Given the description of an element on the screen output the (x, y) to click on. 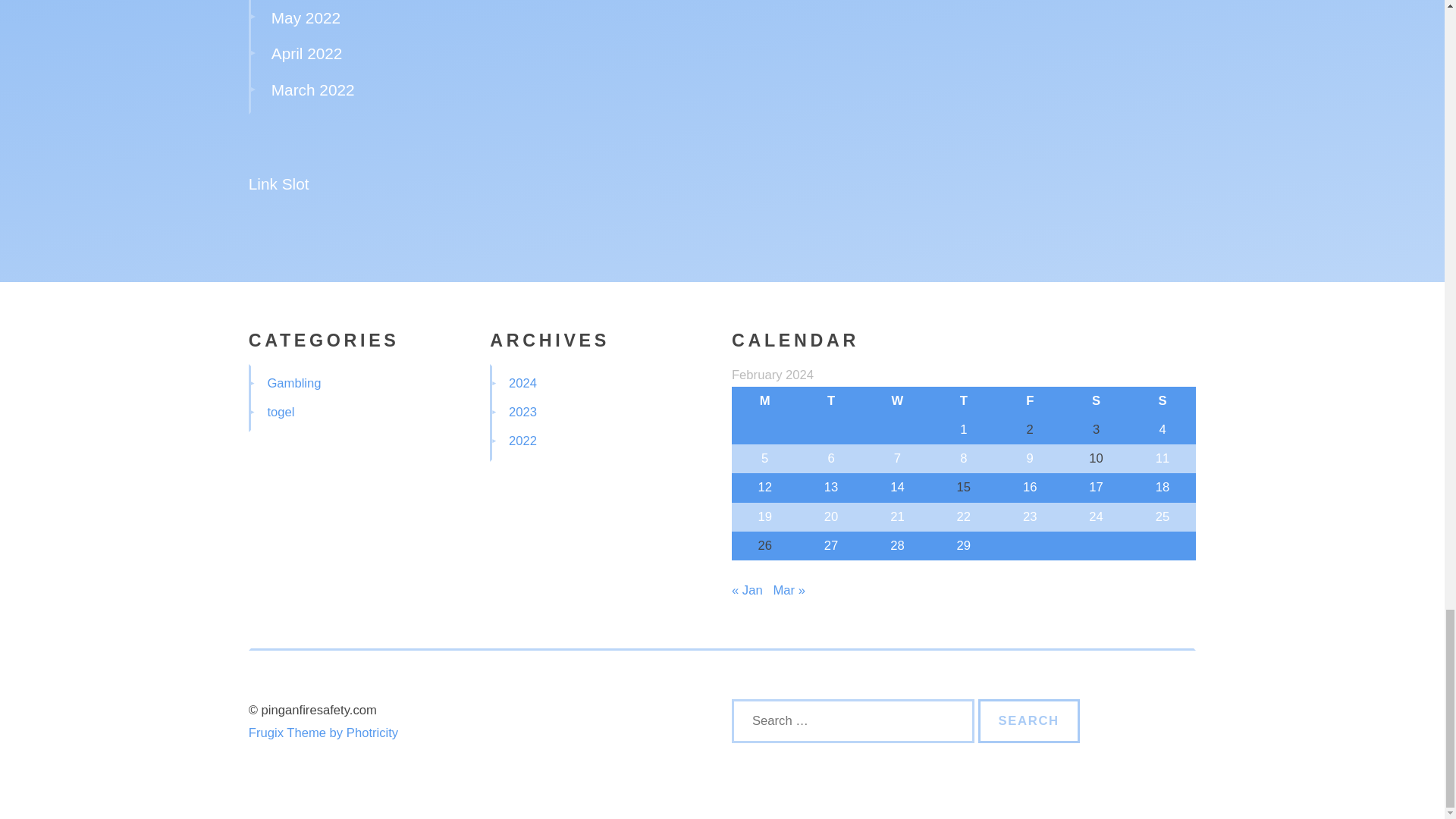
Friday (1029, 399)
Tuesday (830, 399)
Search (1029, 720)
Wednesday (897, 399)
Monday (764, 399)
Saturday (1095, 399)
Search (1029, 720)
Thursday (962, 399)
April 2022 (306, 53)
May 2022 (305, 17)
